Given the description of an element on the screen output the (x, y) to click on. 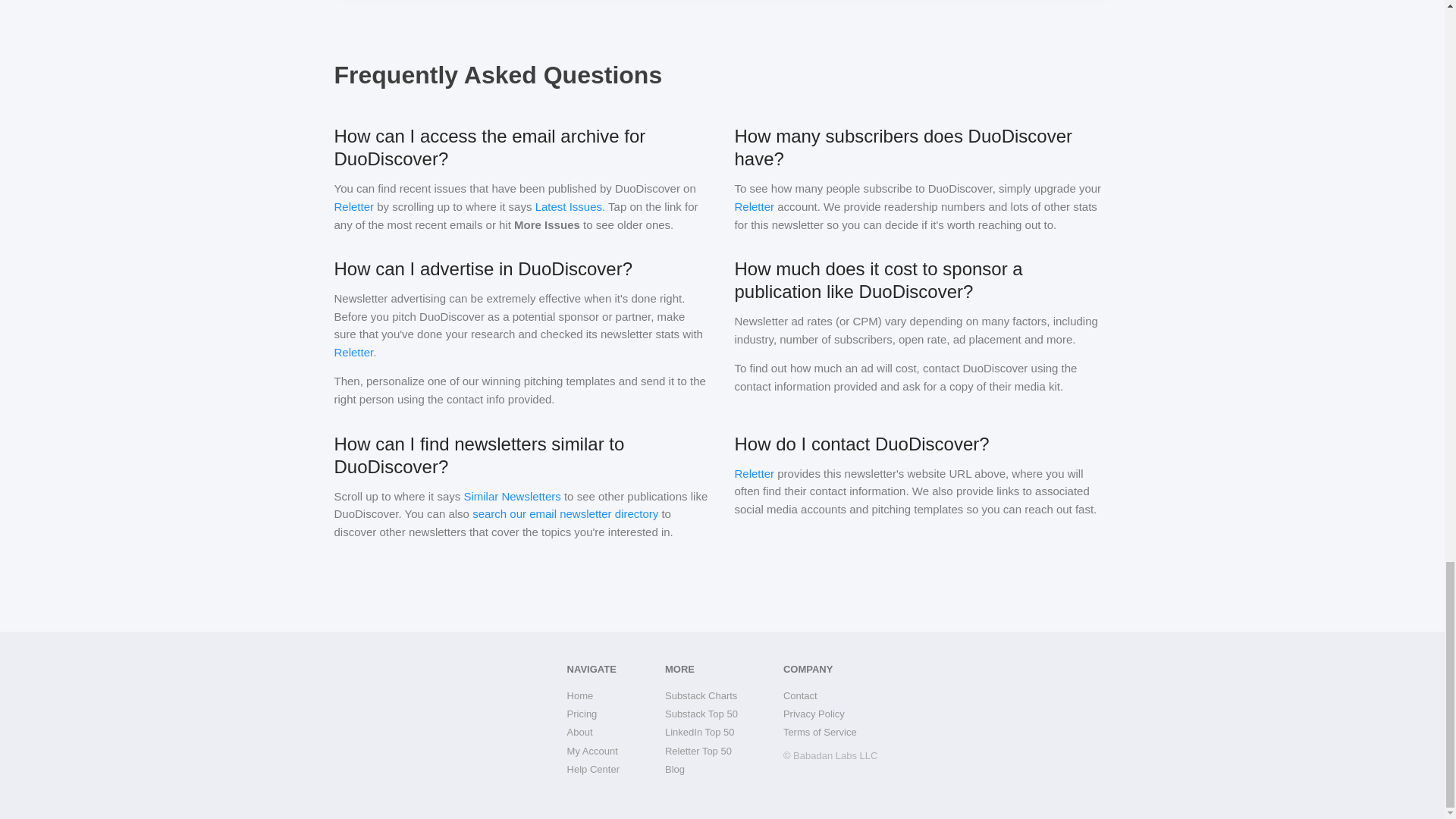
Home (593, 695)
search our email newsletter directory (564, 513)
Reletter (353, 205)
Similar Newsletters (511, 495)
Reletter (753, 205)
Latest Issues (568, 205)
Reletter (753, 472)
Reletter (352, 351)
